Given the description of an element on the screen output the (x, y) to click on. 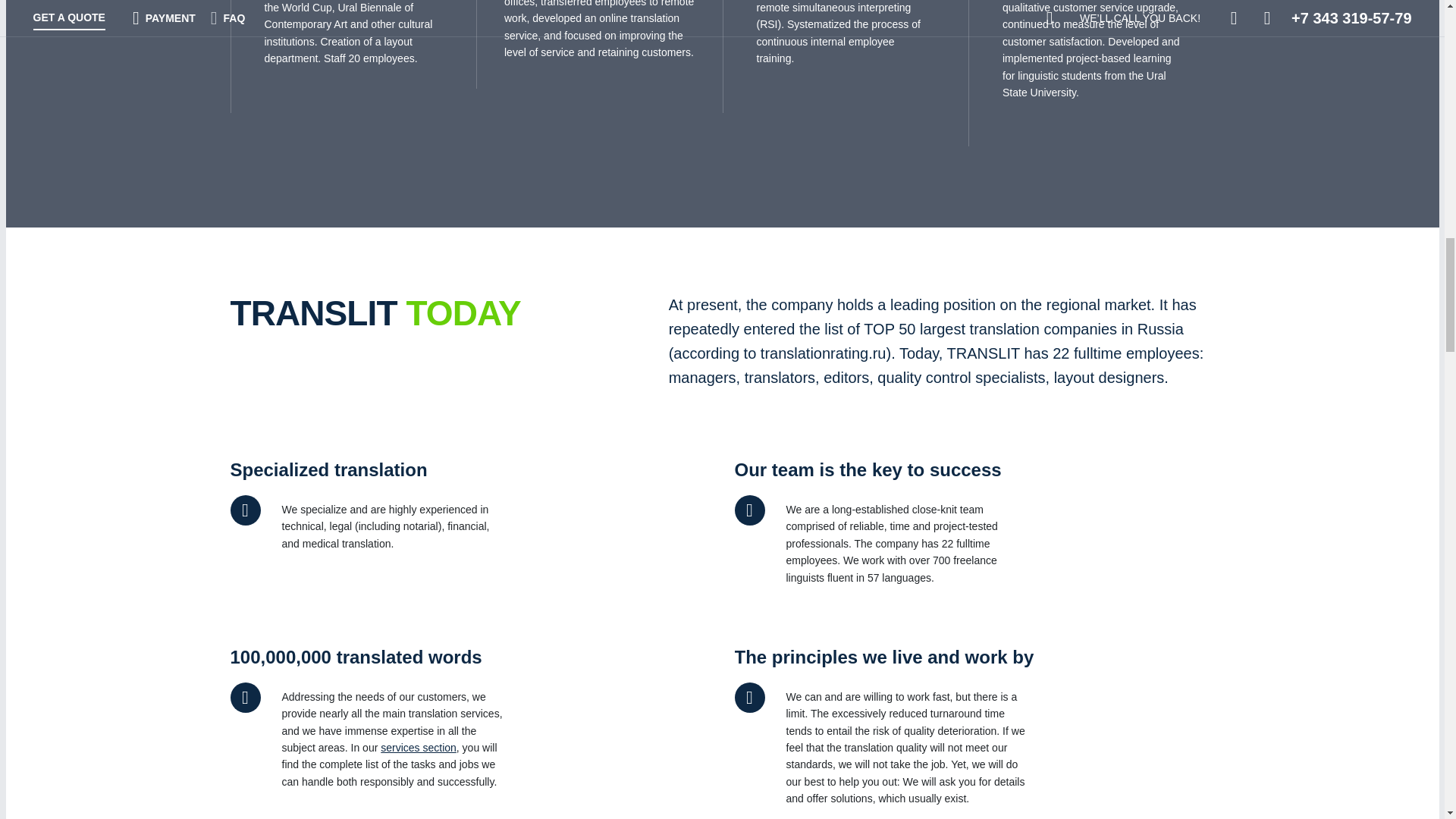
services section (418, 747)
